Given the description of an element on the screen output the (x, y) to click on. 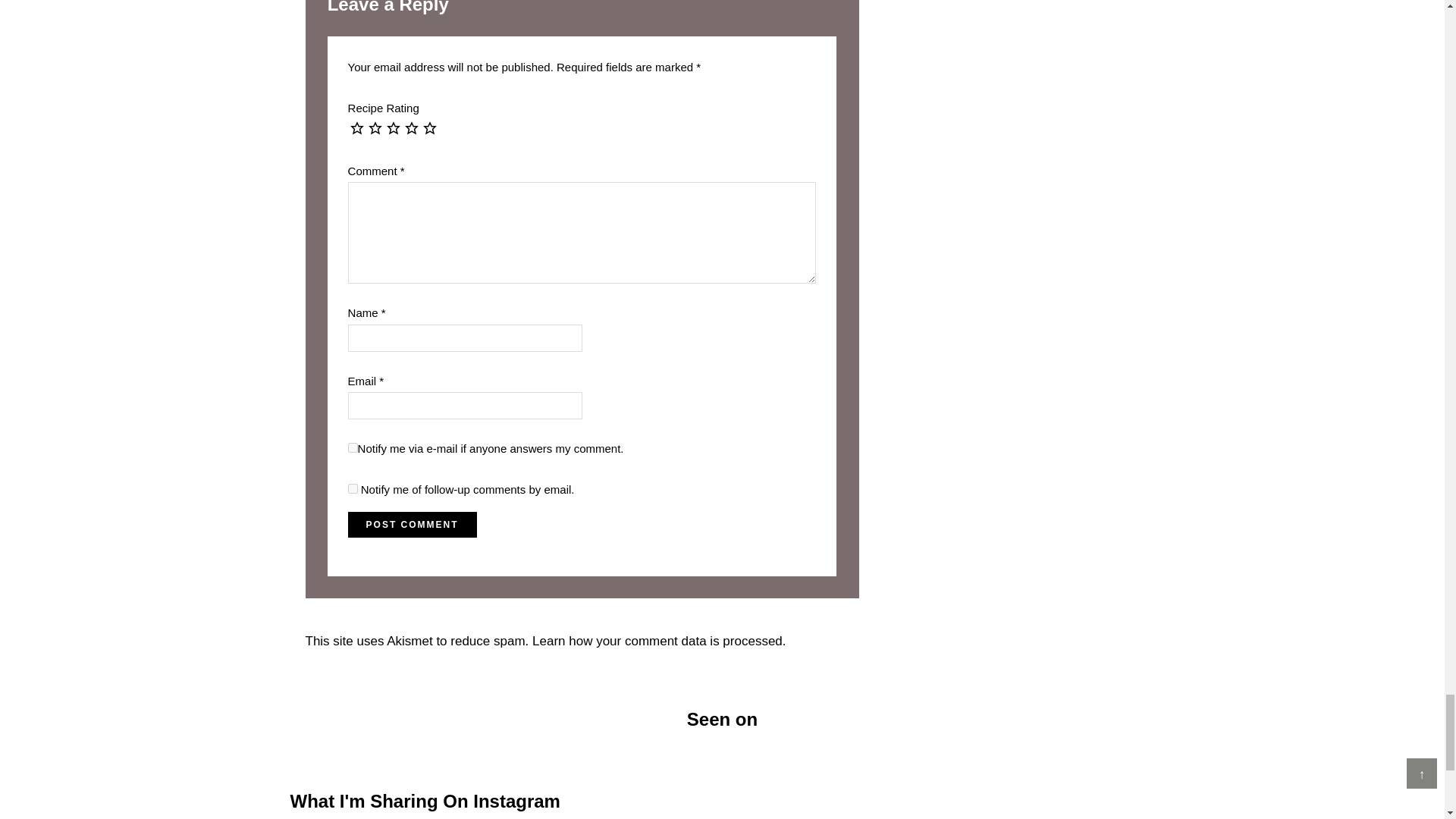
Post Comment (412, 524)
on (352, 447)
subscribe (352, 488)
